Given the description of an element on the screen output the (x, y) to click on. 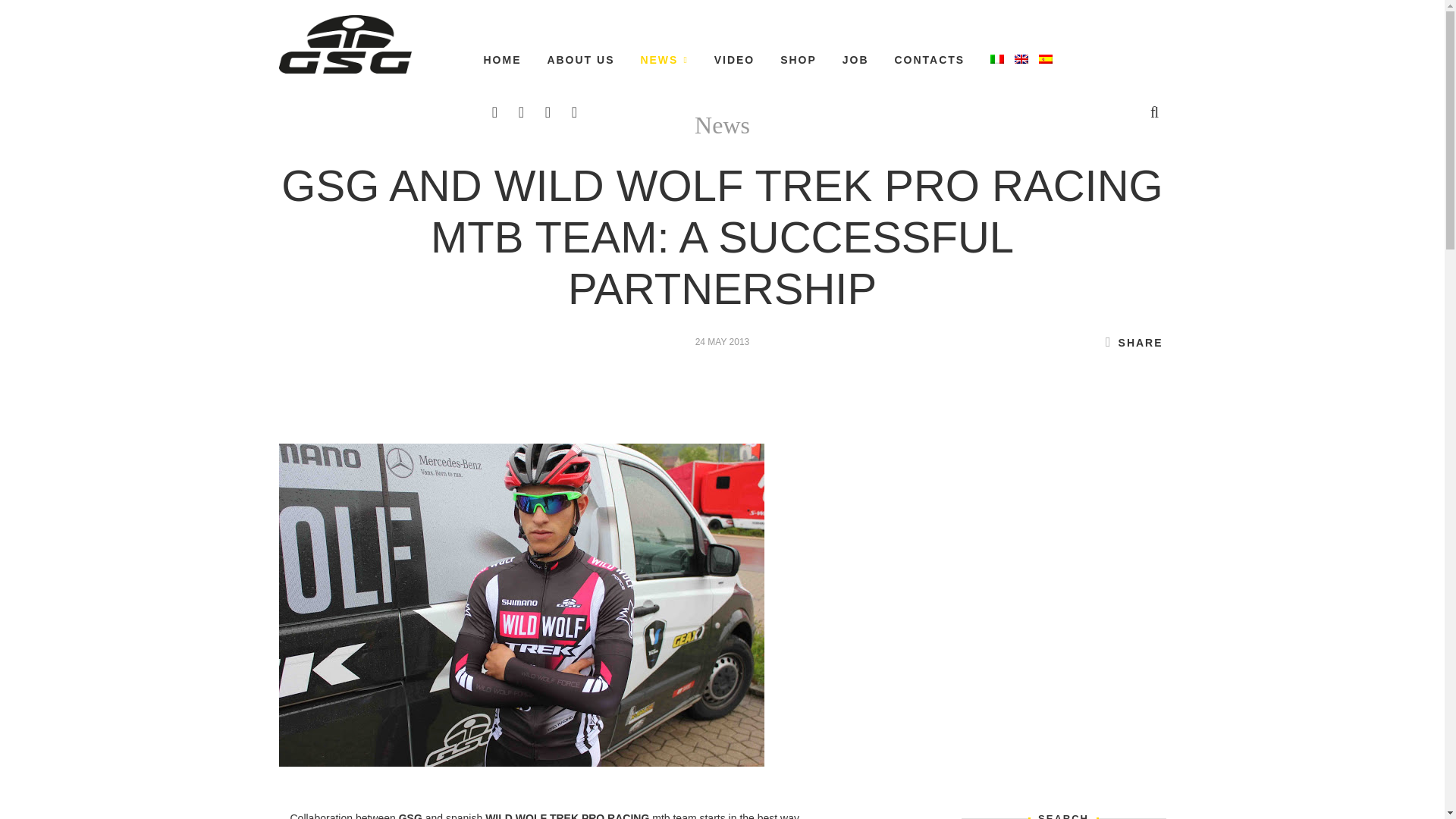
ABOUT US (580, 59)
SHOP (798, 59)
VIDEO (734, 59)
CONTACTS (928, 59)
HOME (502, 59)
JOB (856, 59)
Italiano (997, 58)
NEWS (663, 59)
English (1020, 58)
